Given the description of an element on the screen output the (x, y) to click on. 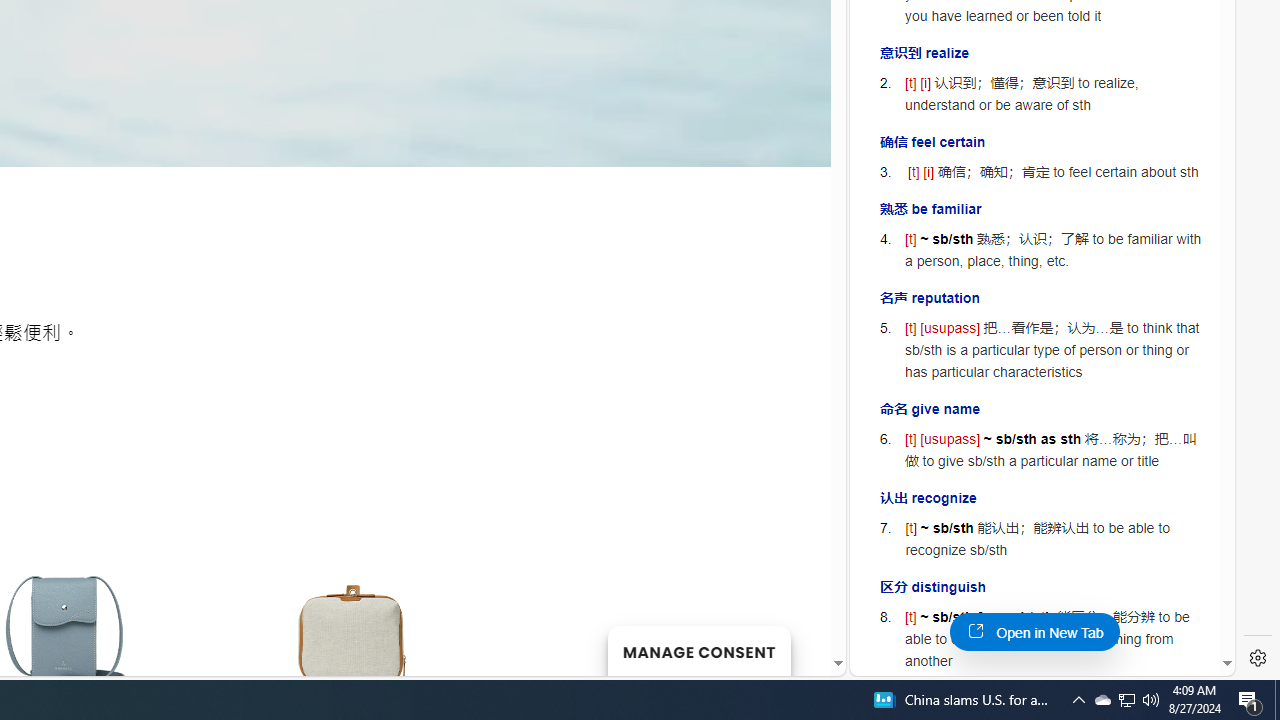
MANAGE CONSENT (698, 650)
